Given the description of an element on the screen output the (x, y) to click on. 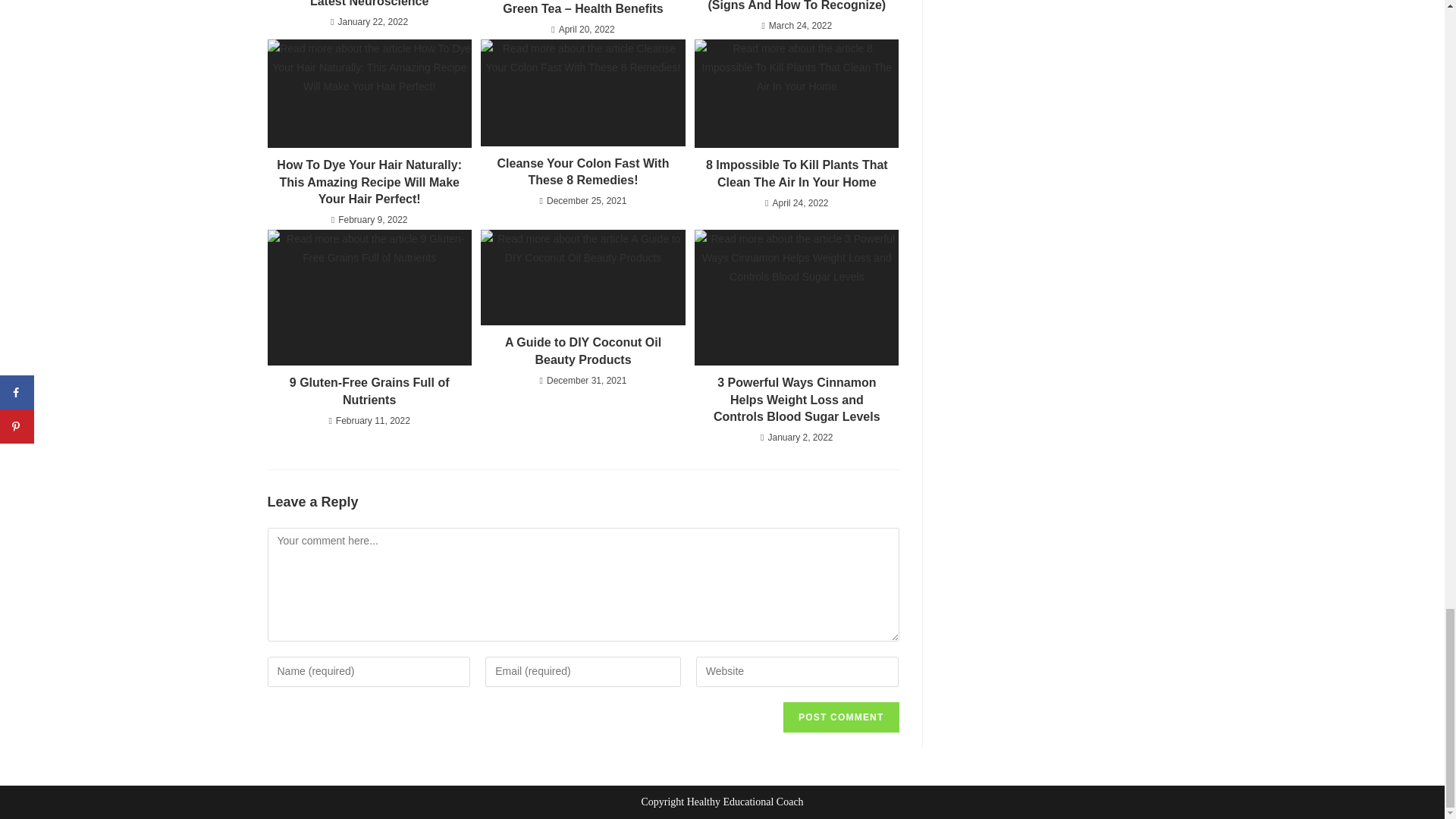
Post Comment (840, 716)
